Given the description of an element on the screen output the (x, y) to click on. 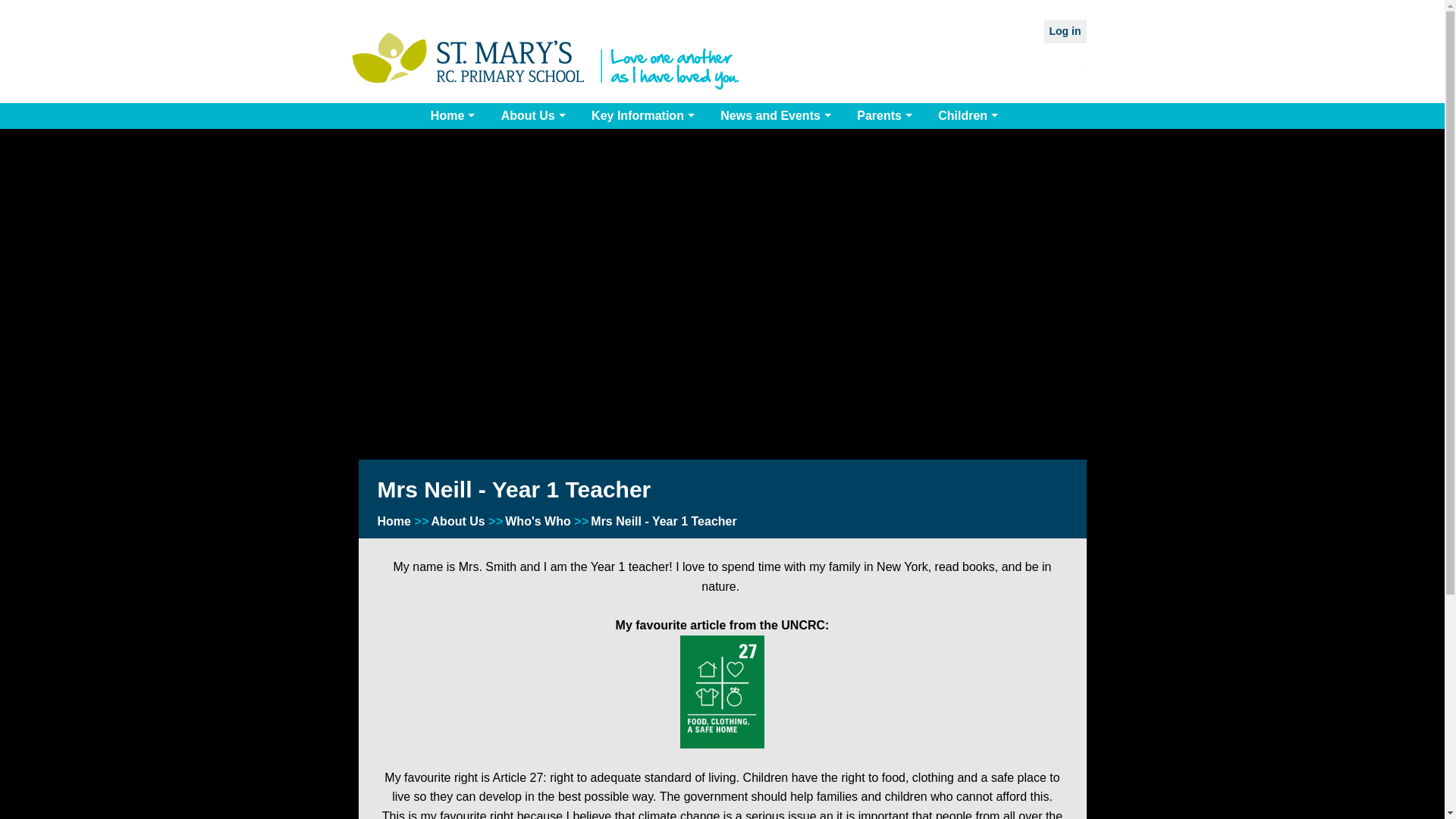
Home Page (546, 60)
Home Page (546, 60)
Home (454, 115)
About Us (535, 115)
Log in (1064, 31)
